Given the description of an element on the screen output the (x, y) to click on. 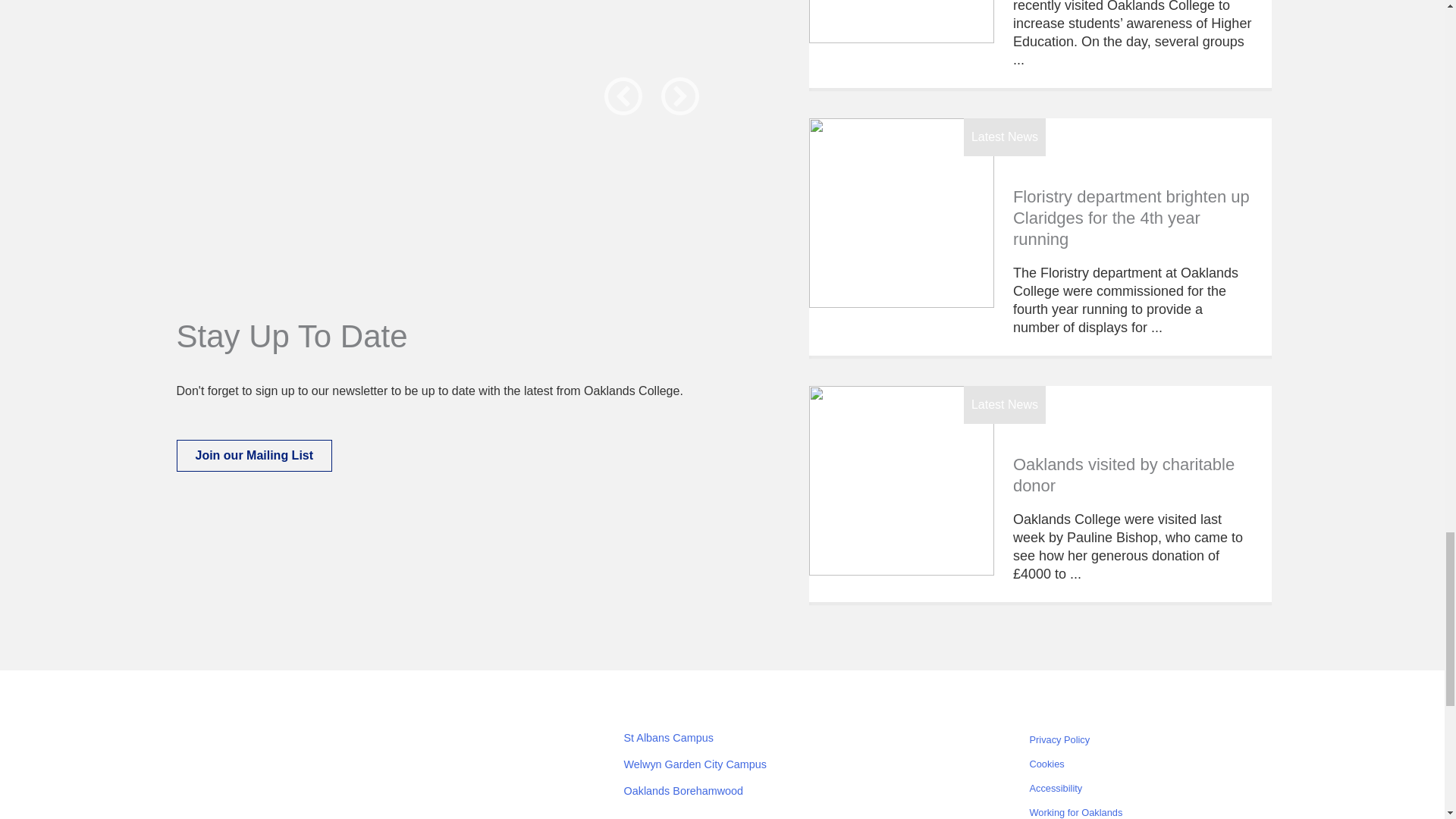
Oaklands visited by charitable donor (1123, 475)
Oaklands visited by charitable donor (901, 480)
Click Here (253, 455)
Students Aim higher with Roadshow (901, 21)
